Given the description of an element on the screen output the (x, y) to click on. 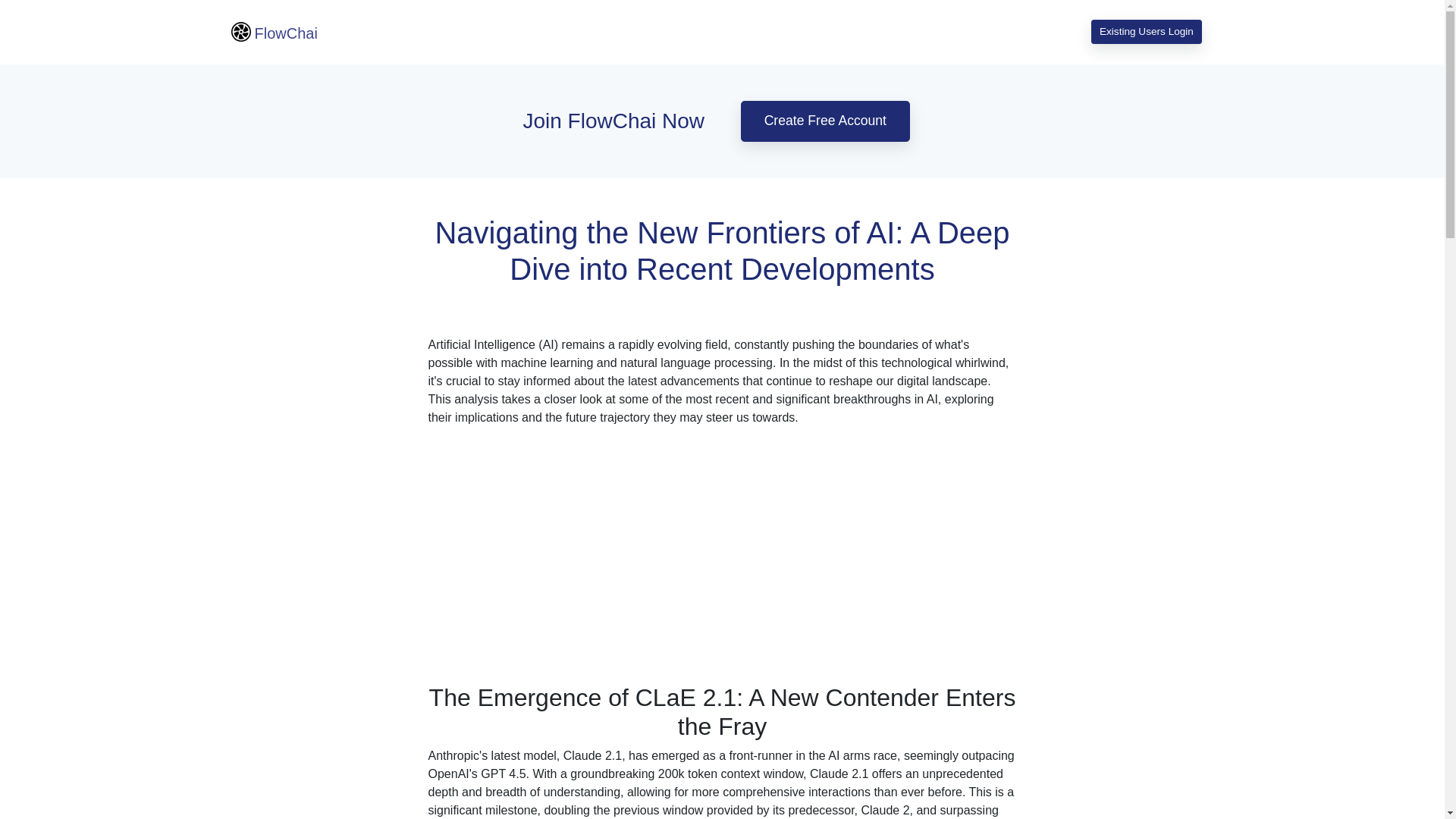
FlowChai (273, 31)
Existing Users Login (1145, 31)
Create Free Account (825, 120)
